Given the description of an element on the screen output the (x, y) to click on. 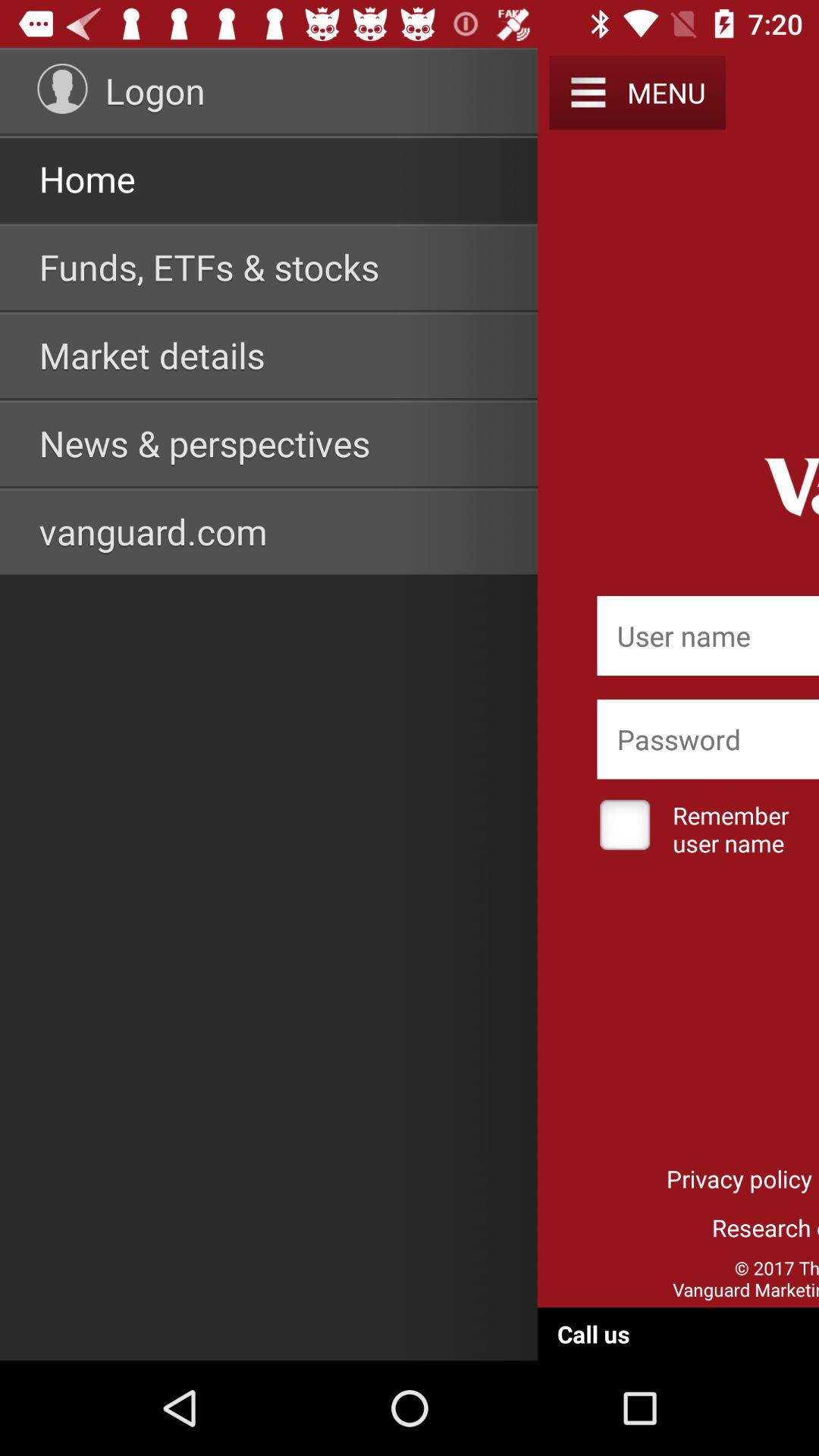
press research our firm app (708, 1227)
